Given the description of an element on the screen output the (x, y) to click on. 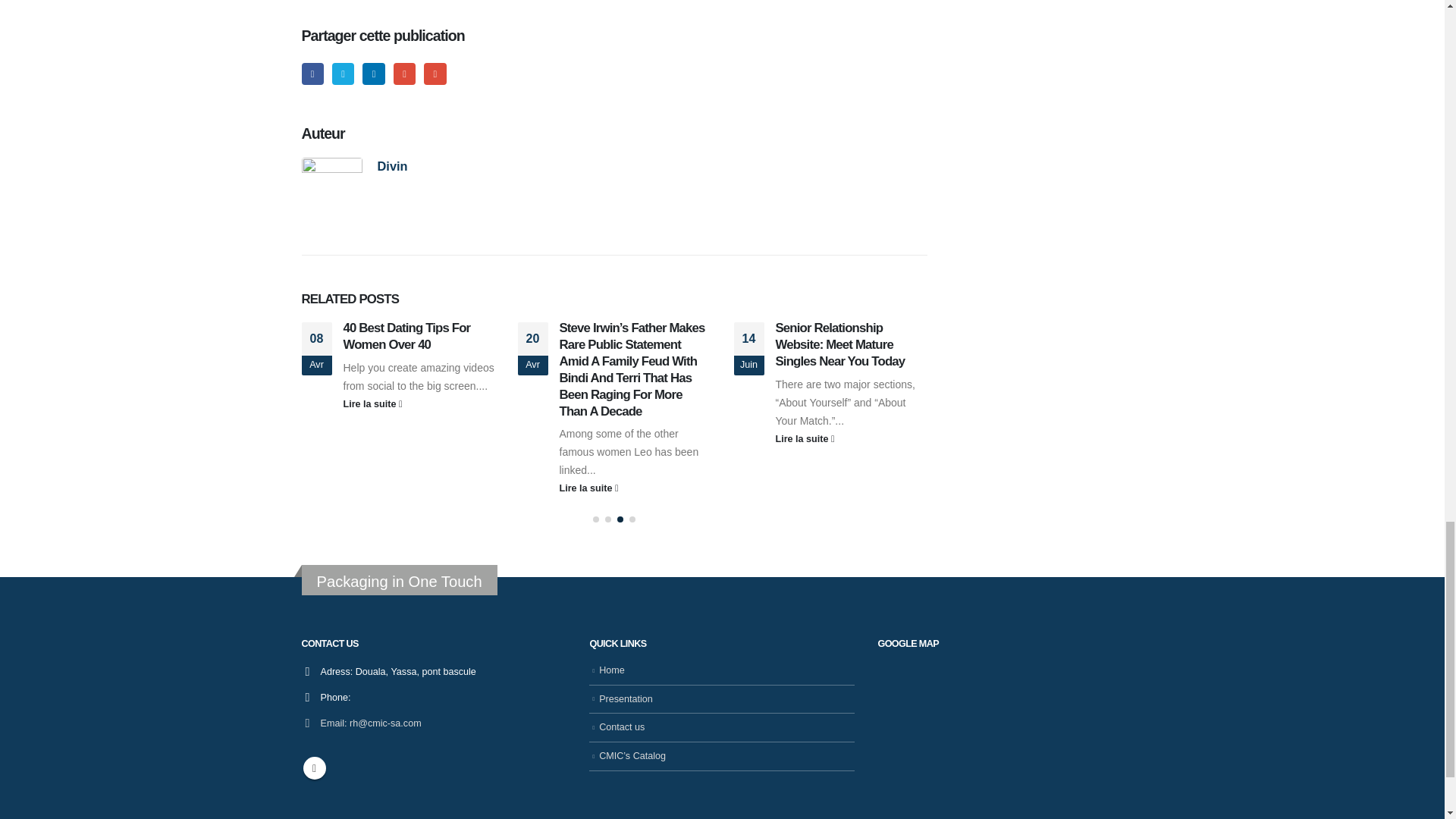
Articles par Divin (392, 165)
